Given the description of an element on the screen output the (x, y) to click on. 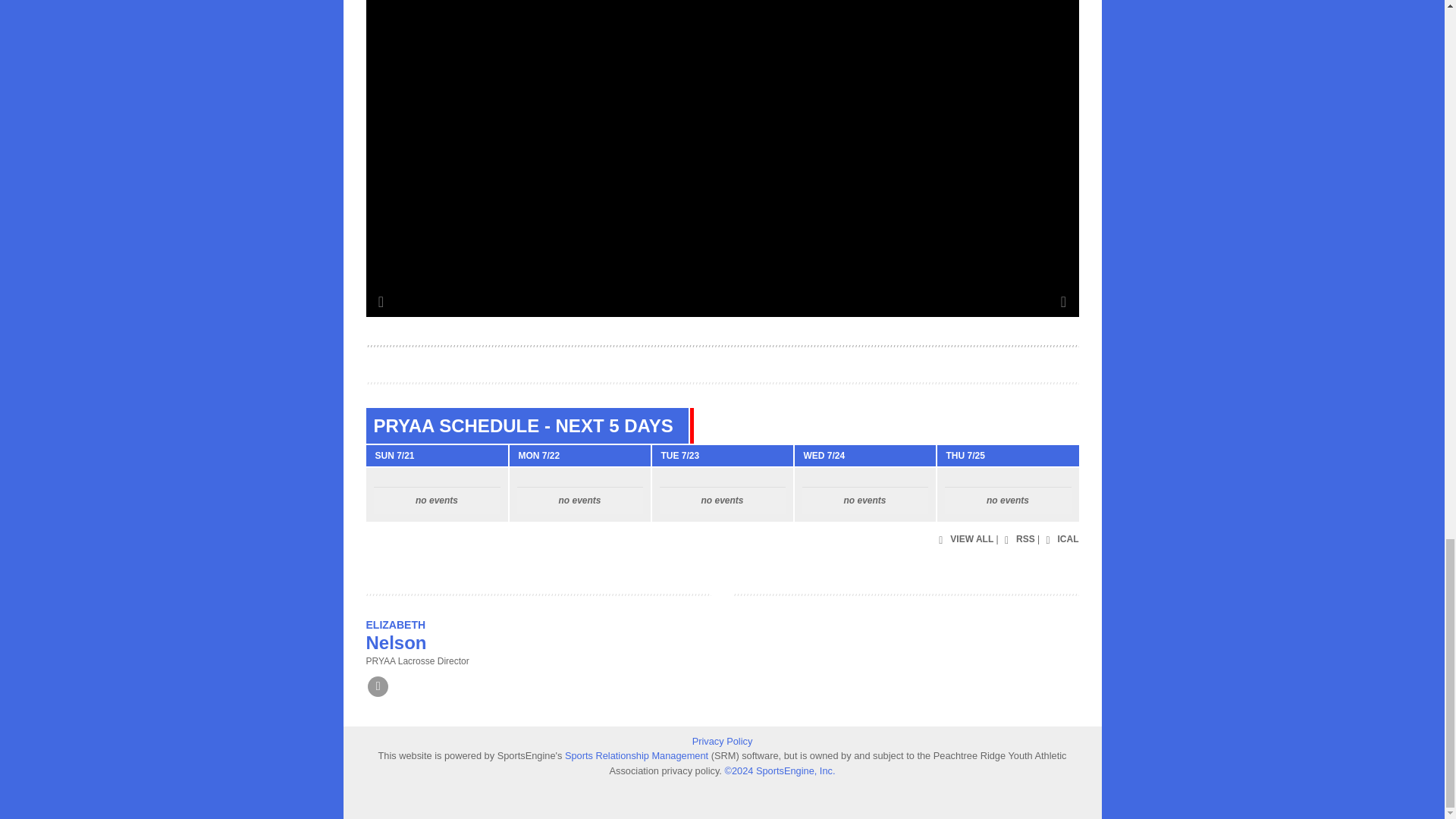
RSS (1018, 539)
Sports Relationship Management (637, 755)
ICAL (1060, 539)
VIEW ALL (963, 539)
